Given the description of an element on the screen output the (x, y) to click on. 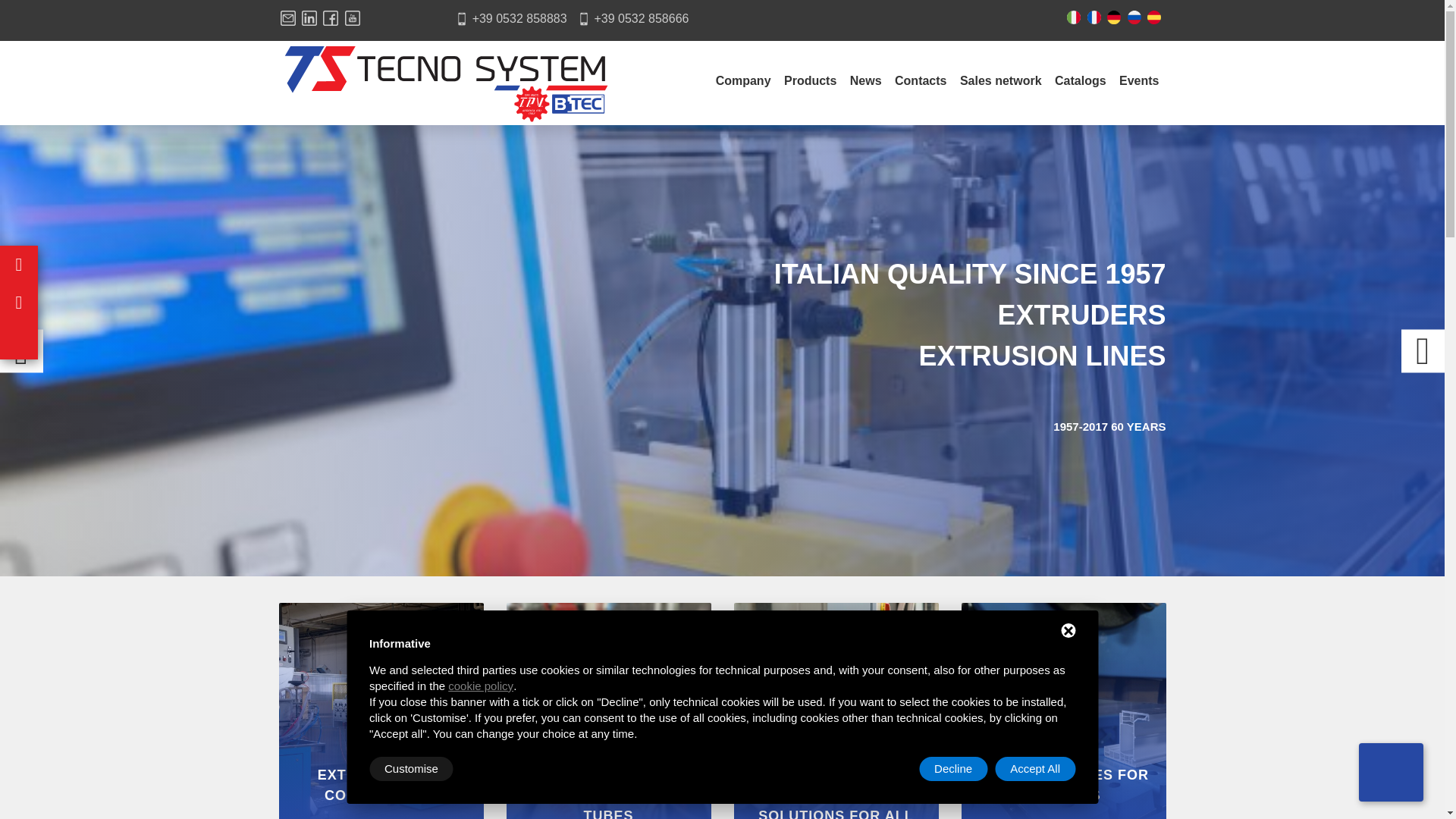
Products (810, 82)
Company (743, 82)
